Given the description of an element on the screen output the (x, y) to click on. 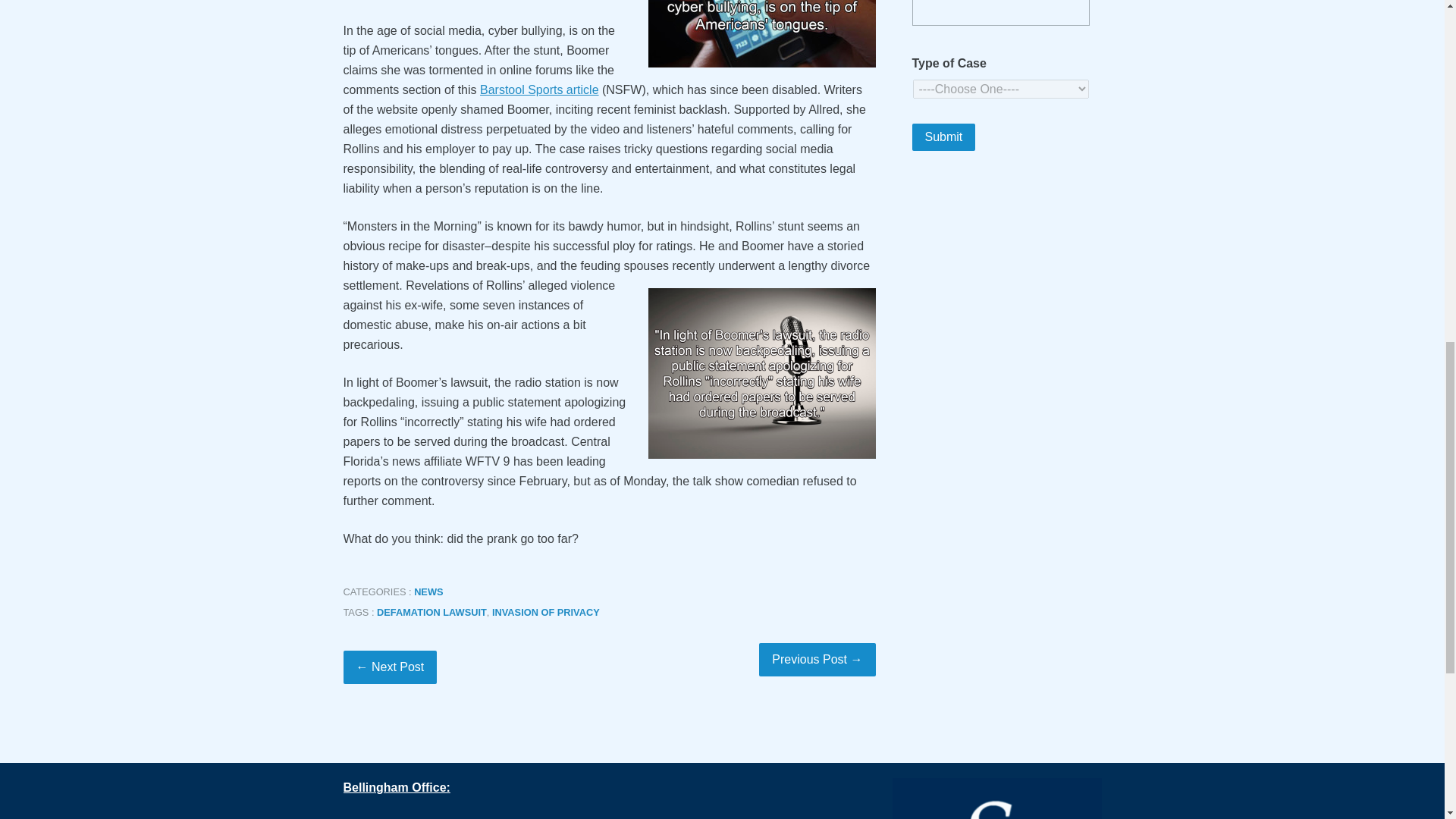
DEFAMATION LAWSUIT (431, 612)
NEWS (427, 591)
INVASION OF PRIVACY (545, 612)
Barstool Sports article (539, 89)
Submit (943, 136)
